Given the description of an element on the screen output the (x, y) to click on. 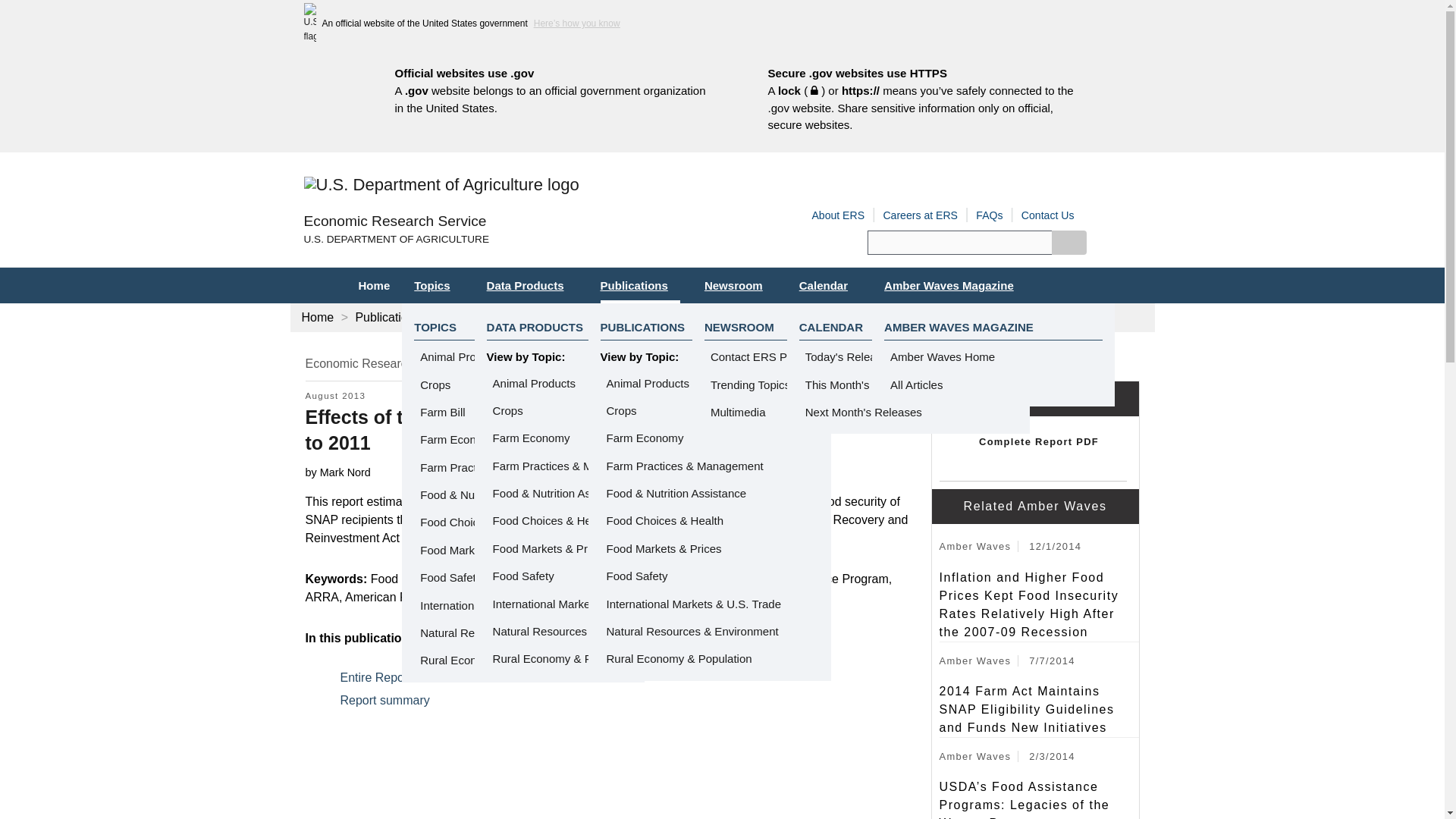
Animal Products (534, 383)
Economic Research Service (394, 220)
Animal Products (461, 356)
TOPICS (435, 326)
Food Safety (450, 577)
Animal Products (647, 383)
U.S. DEPARTMENT OF AGRICULTURE (512, 239)
Home (394, 220)
Crops (622, 410)
USDA.gov (512, 239)
